Given the description of an element on the screen output the (x, y) to click on. 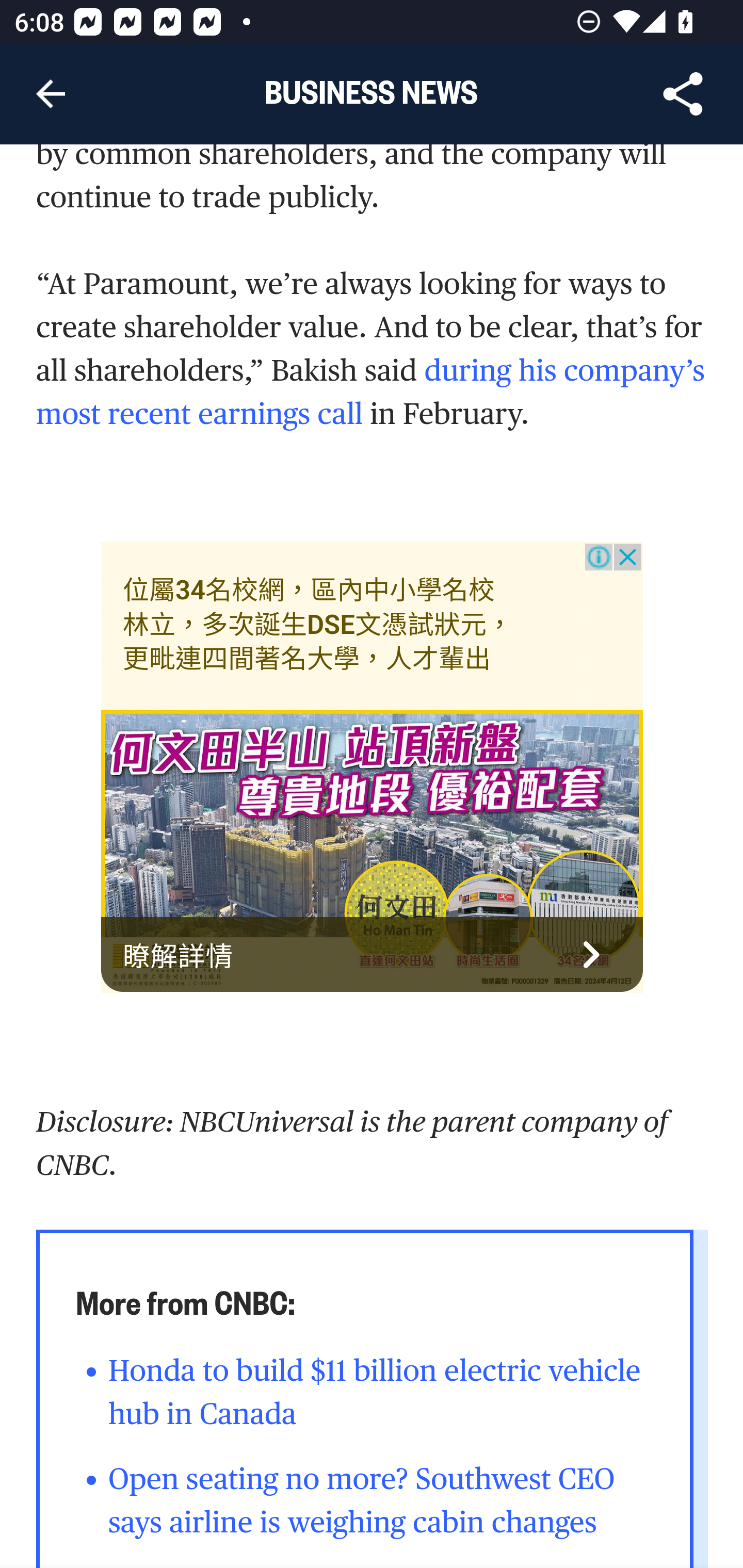
Navigate up (50, 93)
Share Article, button (683, 94)
during his company’s most recent earnings call  (370, 391)
瞭解詳情 (372, 954)
